Given the description of an element on the screen output the (x, y) to click on. 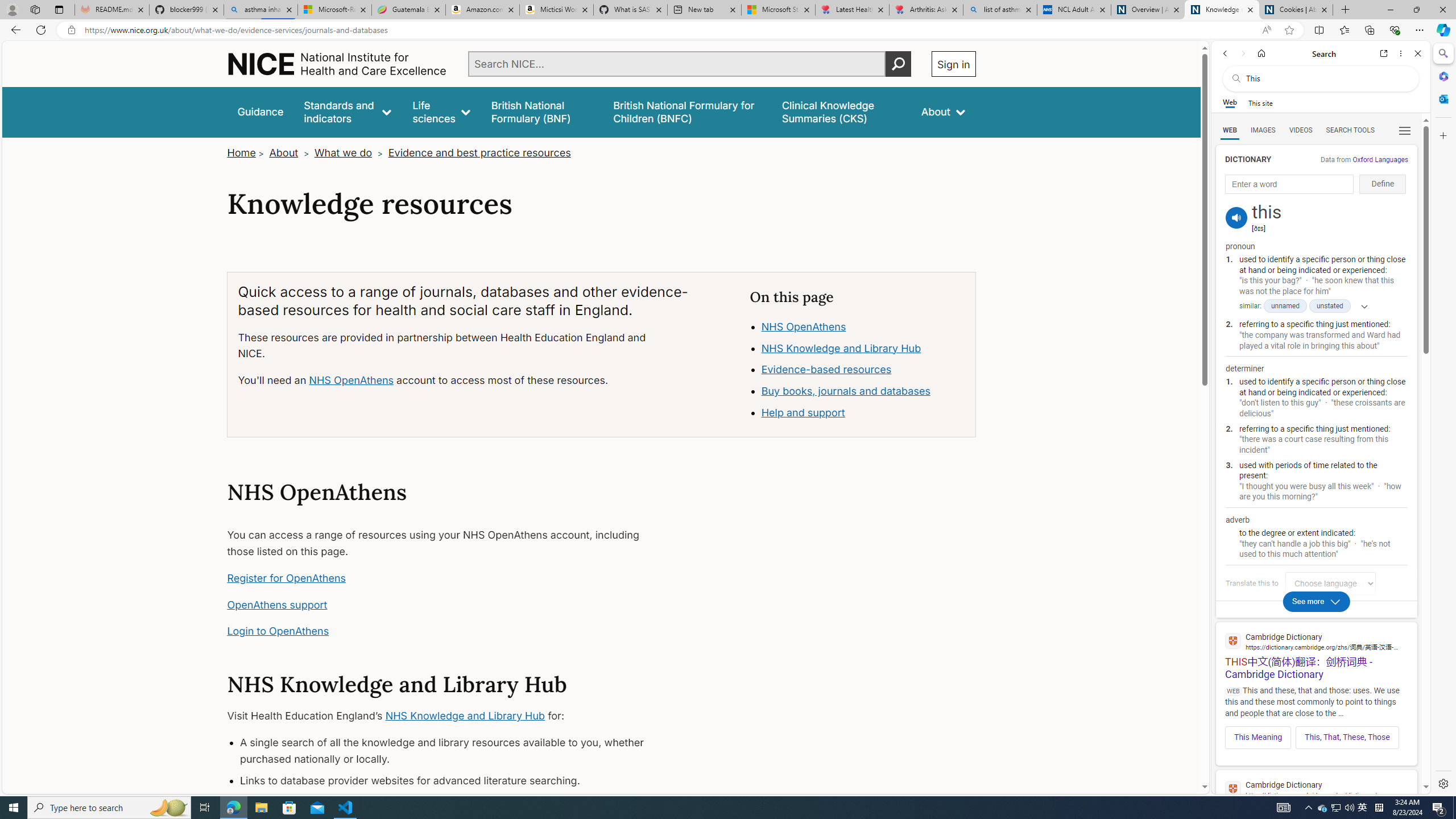
Link for logging (1333, 582)
Cambridge Dictionary (1315, 788)
